Given the description of an element on the screen output the (x, y) to click on. 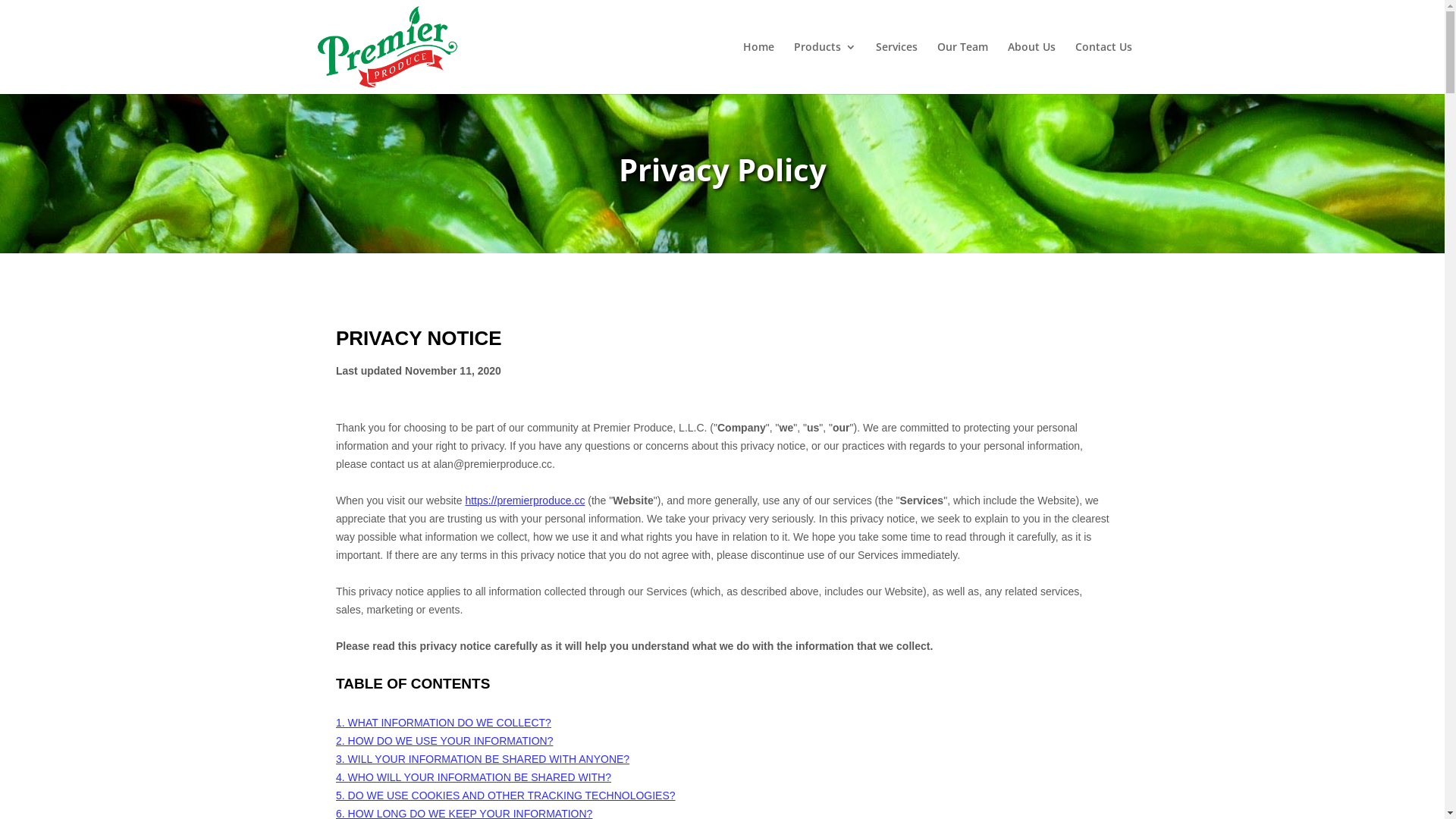
Our Team Element type: text (962, 67)
About Us Element type: text (1030, 67)
Home Element type: text (758, 67)
Contact Us Element type: text (1103, 67)
Services Element type: text (895, 67)
Products Element type: text (824, 67)
